Given the description of an element on the screen output the (x, y) to click on. 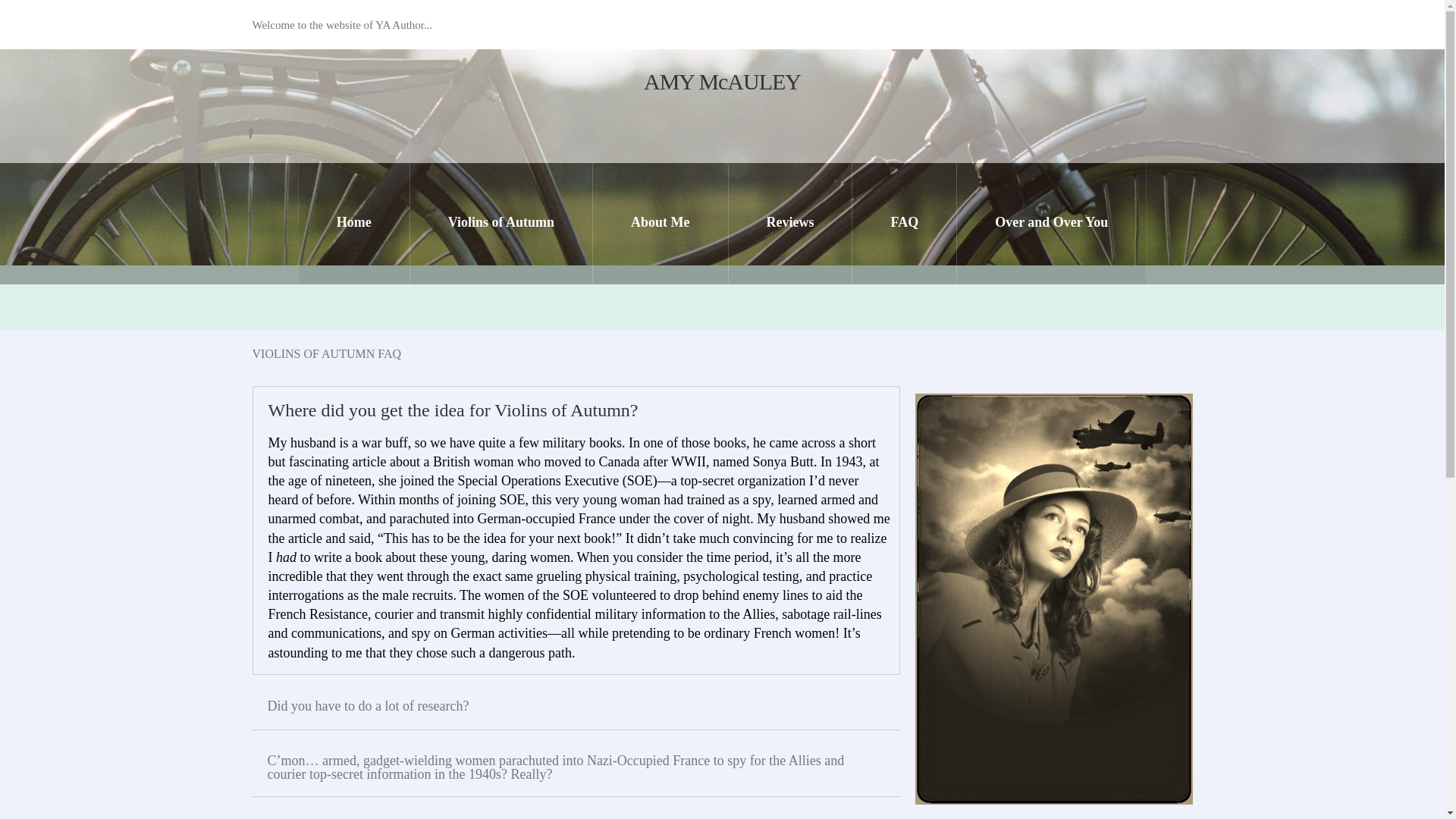
Did you have to do a lot of research? (563, 705)
Welcome to the website of YA Author... (348, 25)
Violins of Autumn (501, 223)
Go to site home page (721, 81)
AMY McAULEY (721, 81)
Welcome to the website of YA Author... (348, 25)
About Me (660, 223)
Over and Over You (1051, 223)
Reviews (789, 223)
Home (354, 223)
Where did you get the idea for Violins of Autumn? (562, 410)
About Me (660, 223)
Violins of Autumn (501, 223)
Over and Over You (1051, 223)
